Given the description of an element on the screen output the (x, y) to click on. 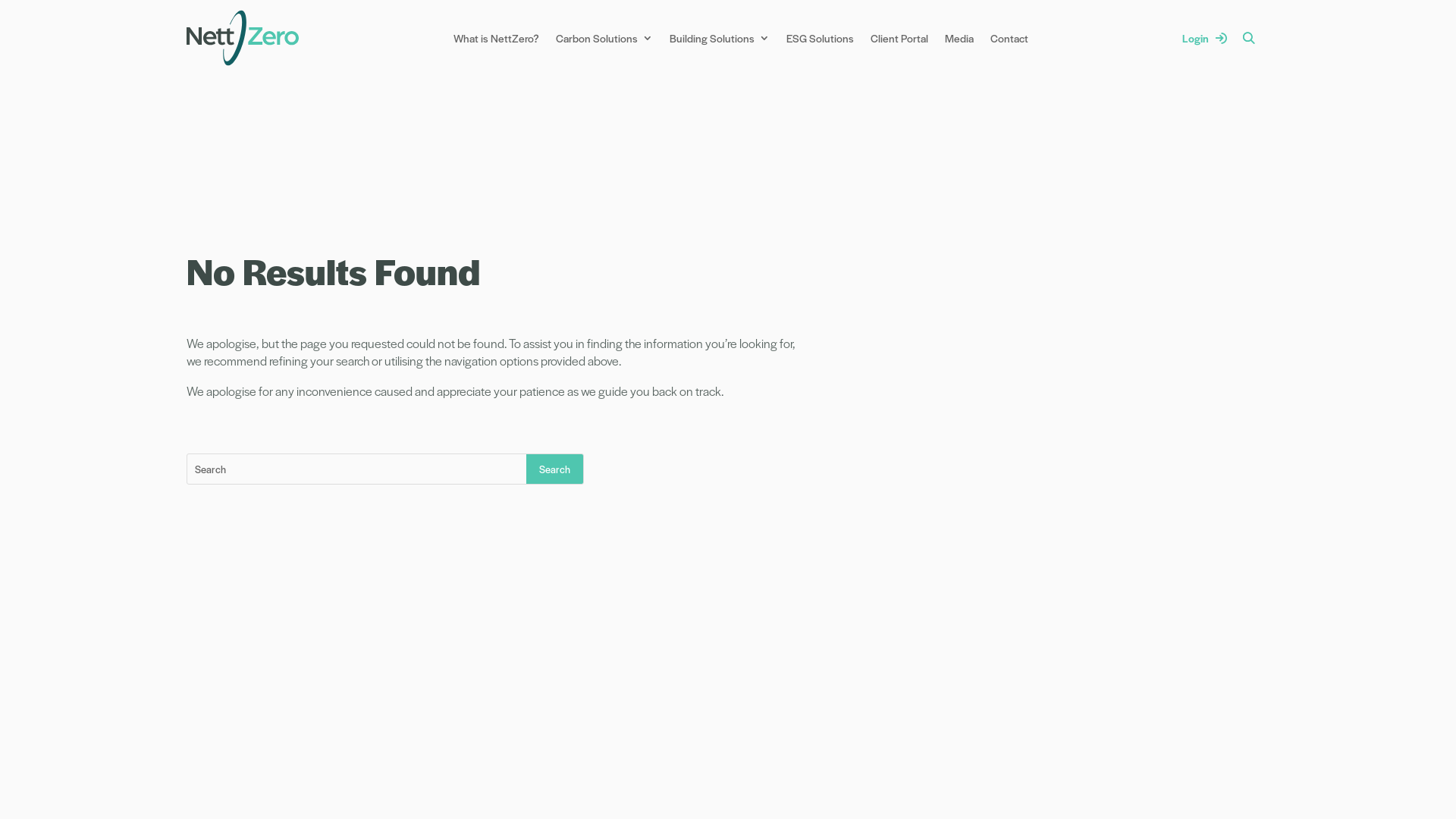
Carbon Solutions Element type: text (603, 37)
Building Solutions Element type: text (719, 37)
ESG Solutions Element type: text (819, 37)
Client Portal Element type: text (899, 37)
Search Element type: text (554, 468)
Login Element type: text (1204, 37)
What is NettZero? Element type: text (496, 37)
Contact Element type: text (1009, 37)
Media Element type: text (958, 37)
